Given the description of an element on the screen output the (x, y) to click on. 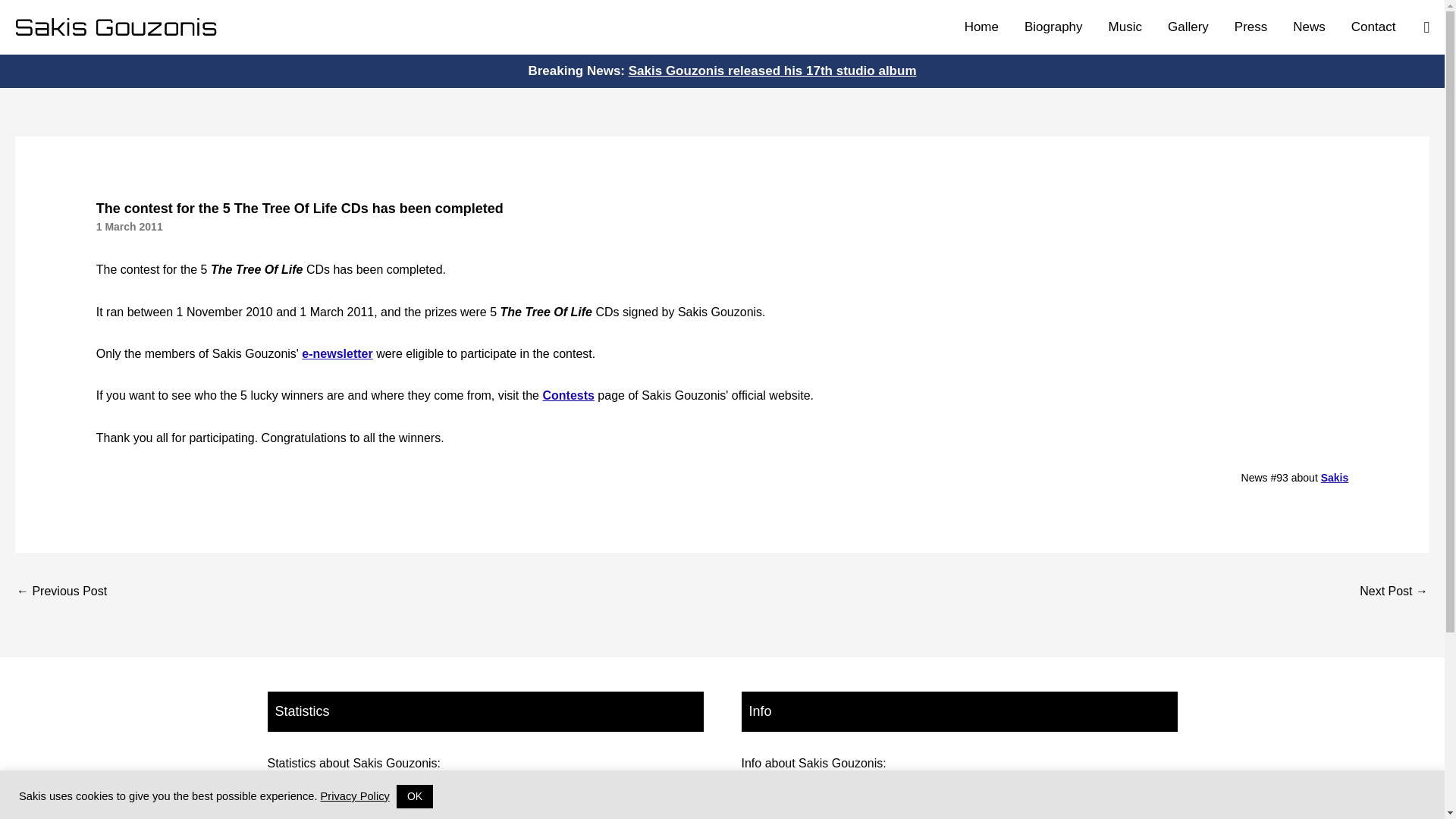
Sakis Gouzonis gave an interview to Flow (1393, 592)
Privacy Policy (355, 796)
Sakis Gouzonis released his 17th studio album (772, 70)
Gallery (1187, 26)
Home (981, 26)
LiveNea article about Sakis Gouzonis' presence on MySpace (61, 592)
OK (414, 796)
Sakis (1334, 477)
Biography (1053, 26)
Music (1125, 26)
